Given the description of an element on the screen output the (x, y) to click on. 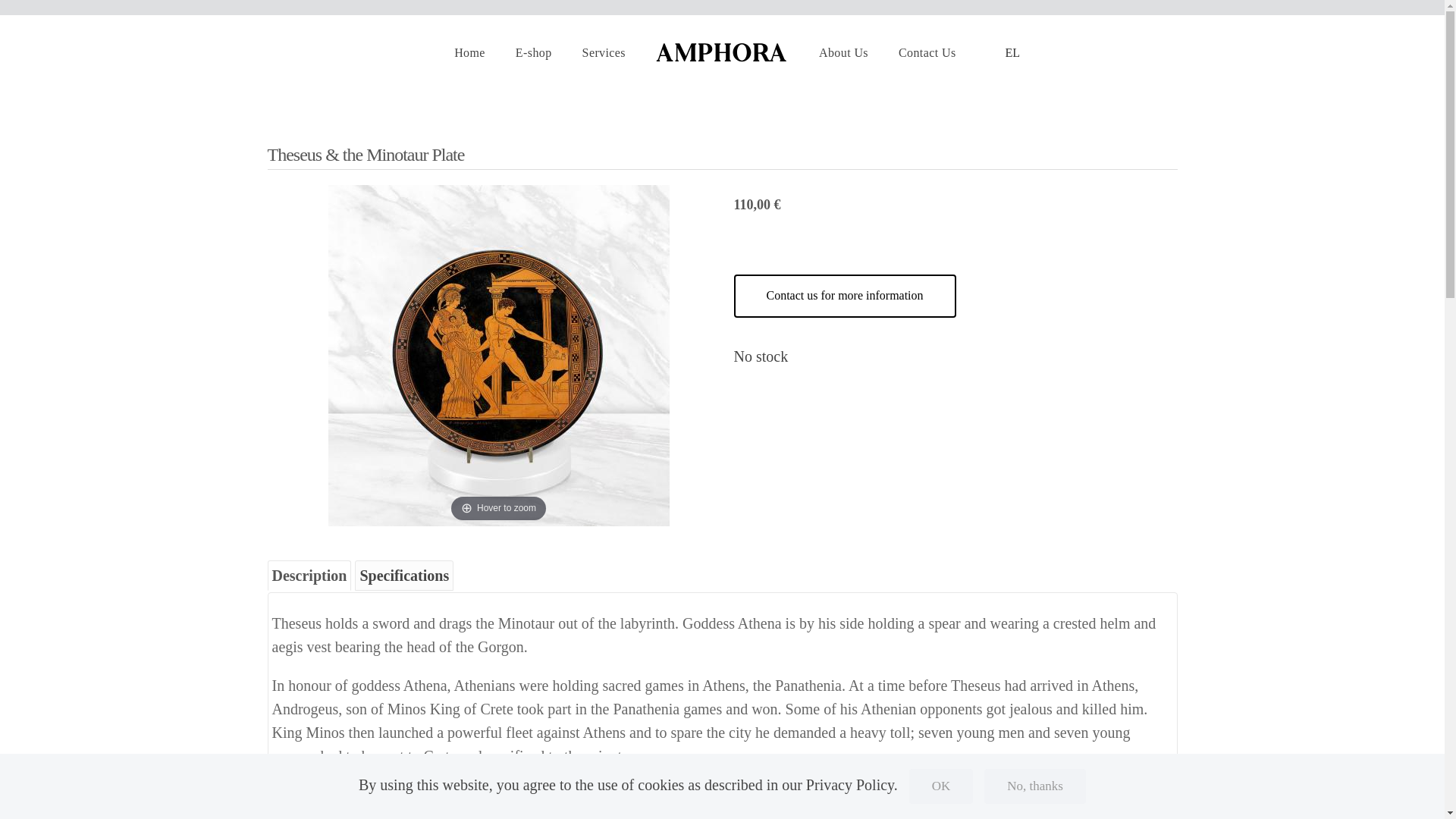
Contact us for more information (844, 295)
Contact Us (927, 52)
Hover to zoom (497, 355)
